Given the description of an element on the screen output the (x, y) to click on. 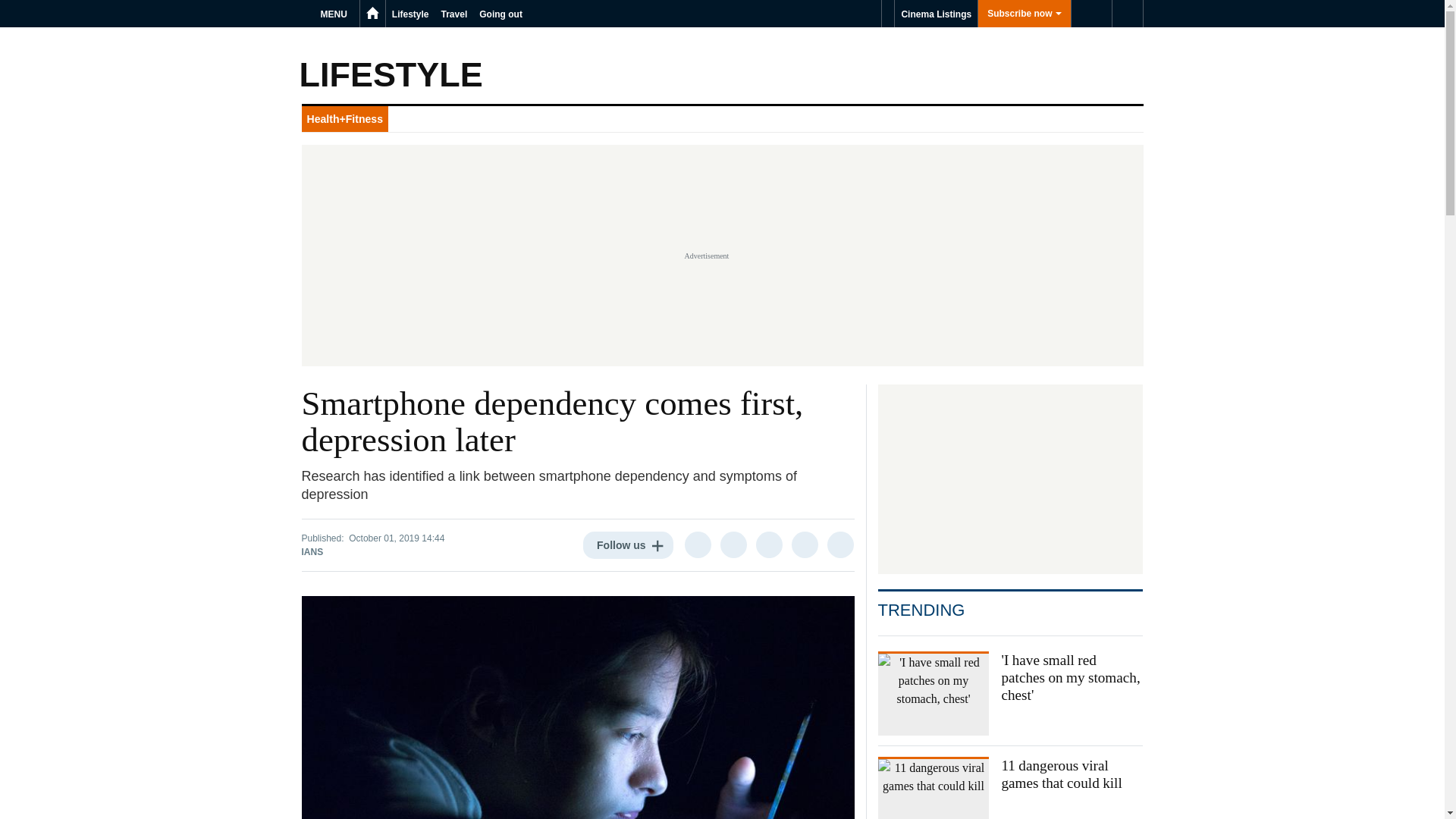
Cinema Listings (935, 13)
Travel (454, 13)
Lifestyle (410, 13)
Subscribe now (1024, 13)
Going out (500, 13)
MENU (336, 13)
